Given the description of an element on the screen output the (x, y) to click on. 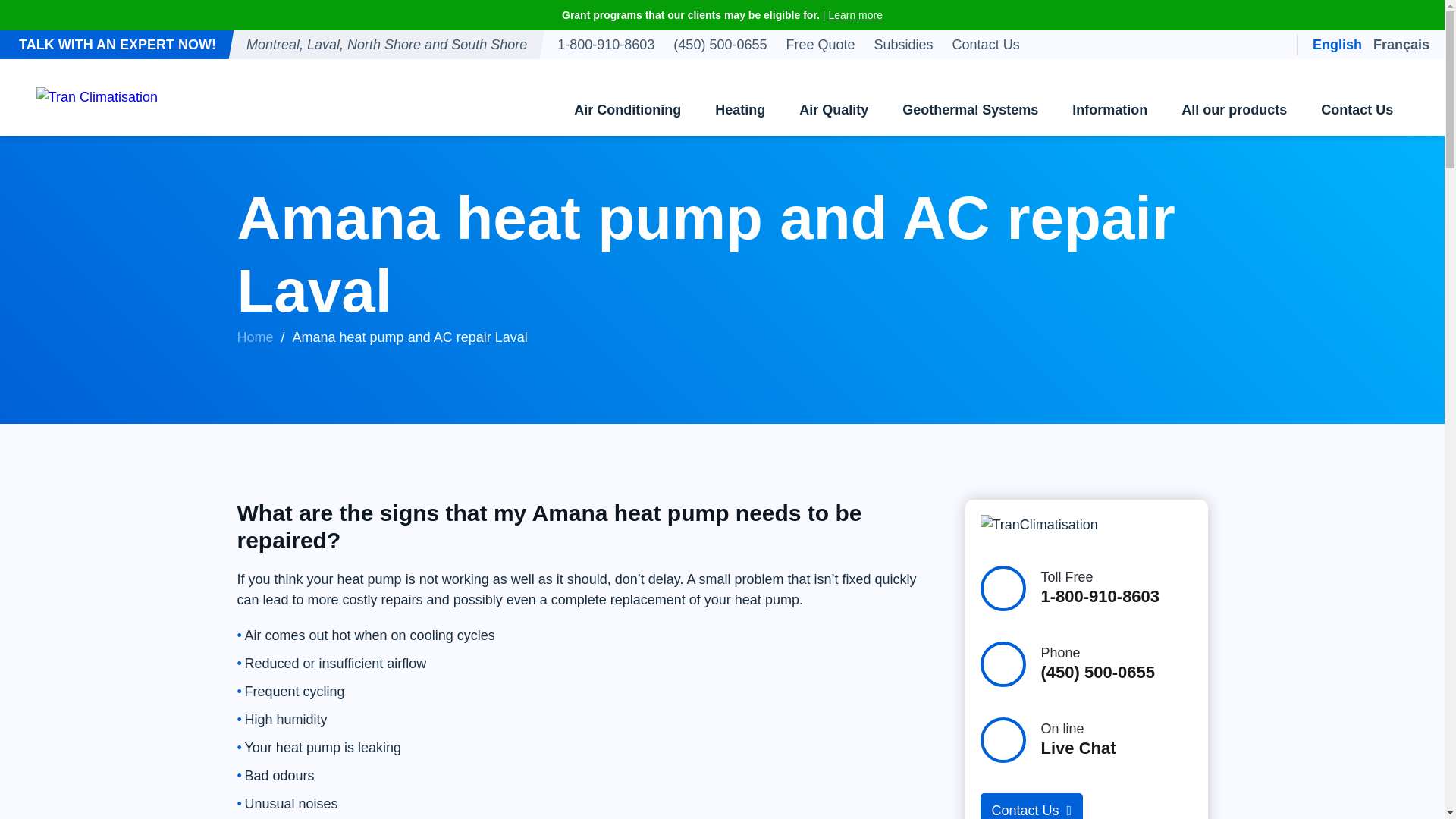
Free Quote (819, 44)
Air Quality (833, 96)
TALK WITH AN EXPERT NOW! (116, 44)
English (1337, 44)
Learn more (855, 15)
English (1337, 44)
Heating (740, 96)
1-800-910-8603 (606, 44)
Information (1109, 96)
Air Conditioning (627, 96)
Contact Us (985, 44)
Geothermal Systems (969, 96)
Subsidies (903, 44)
